Given the description of an element on the screen output the (x, y) to click on. 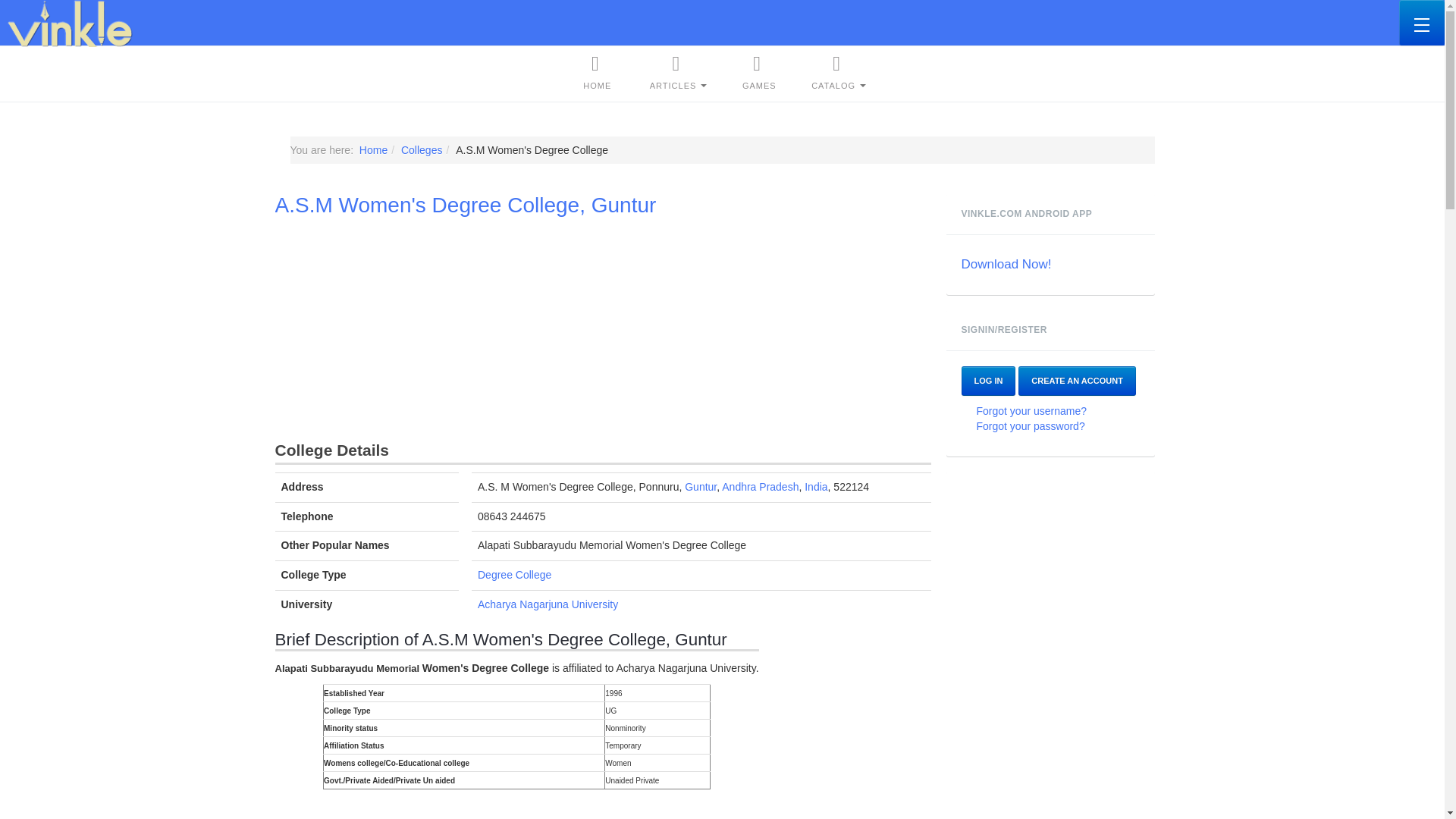
Advertisement (602, 807)
ARTICLES (679, 72)
Vinkle (69, 23)
HOME (596, 72)
